Given the description of an element on the screen output the (x, y) to click on. 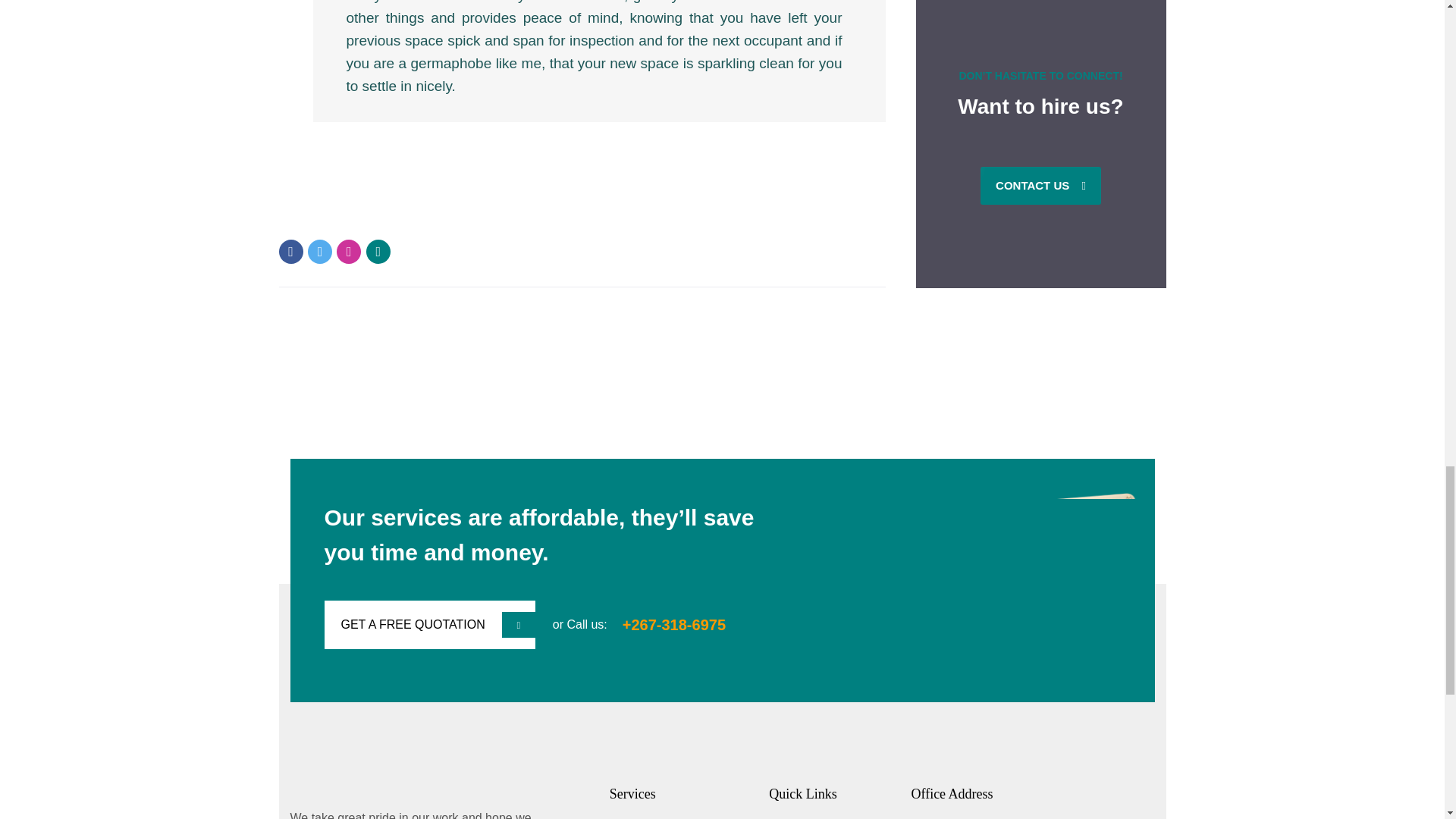
Twitter (319, 251)
LinkedIn (378, 251)
Pinterest (348, 251)
GET A FREE QUOTATION (429, 624)
Facebook (290, 251)
